Given the description of an element on the screen output the (x, y) to click on. 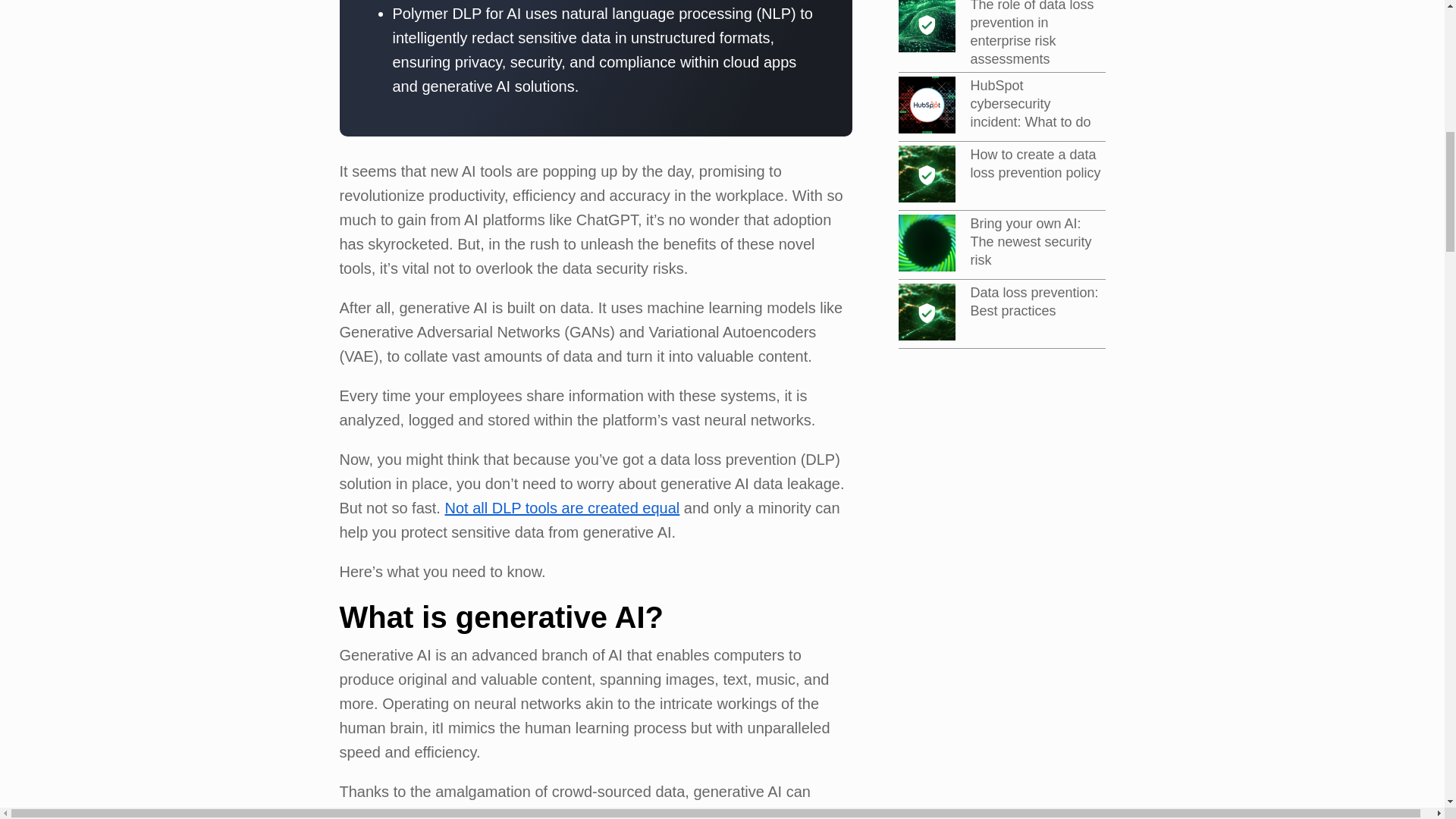
How to create a data loss prevention policy (1035, 163)
Data loss prevention: Best practices (1035, 301)
HubSpot cybersecurity incident: What to do (1030, 103)
Bring your own AI: The newest security risk (1031, 241)
